Given the description of an element on the screen output the (x, y) to click on. 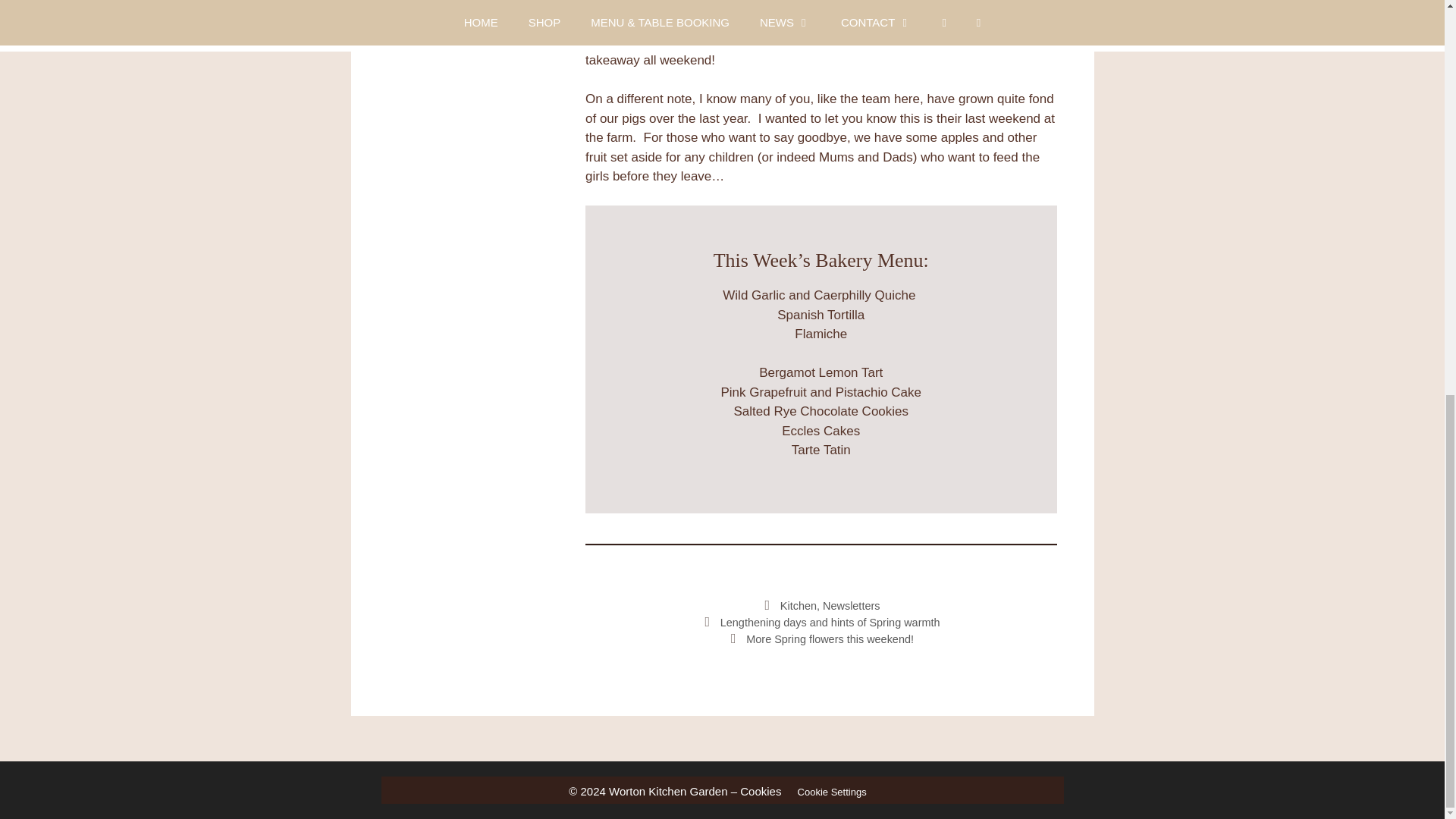
More Spring flowers this weekend! (829, 639)
Lengthening days and hints of Spring warmth (830, 622)
Newsletters (850, 605)
Kitchen (798, 605)
Worton Nights (459, 9)
